Given the description of an element on the screen output the (x, y) to click on. 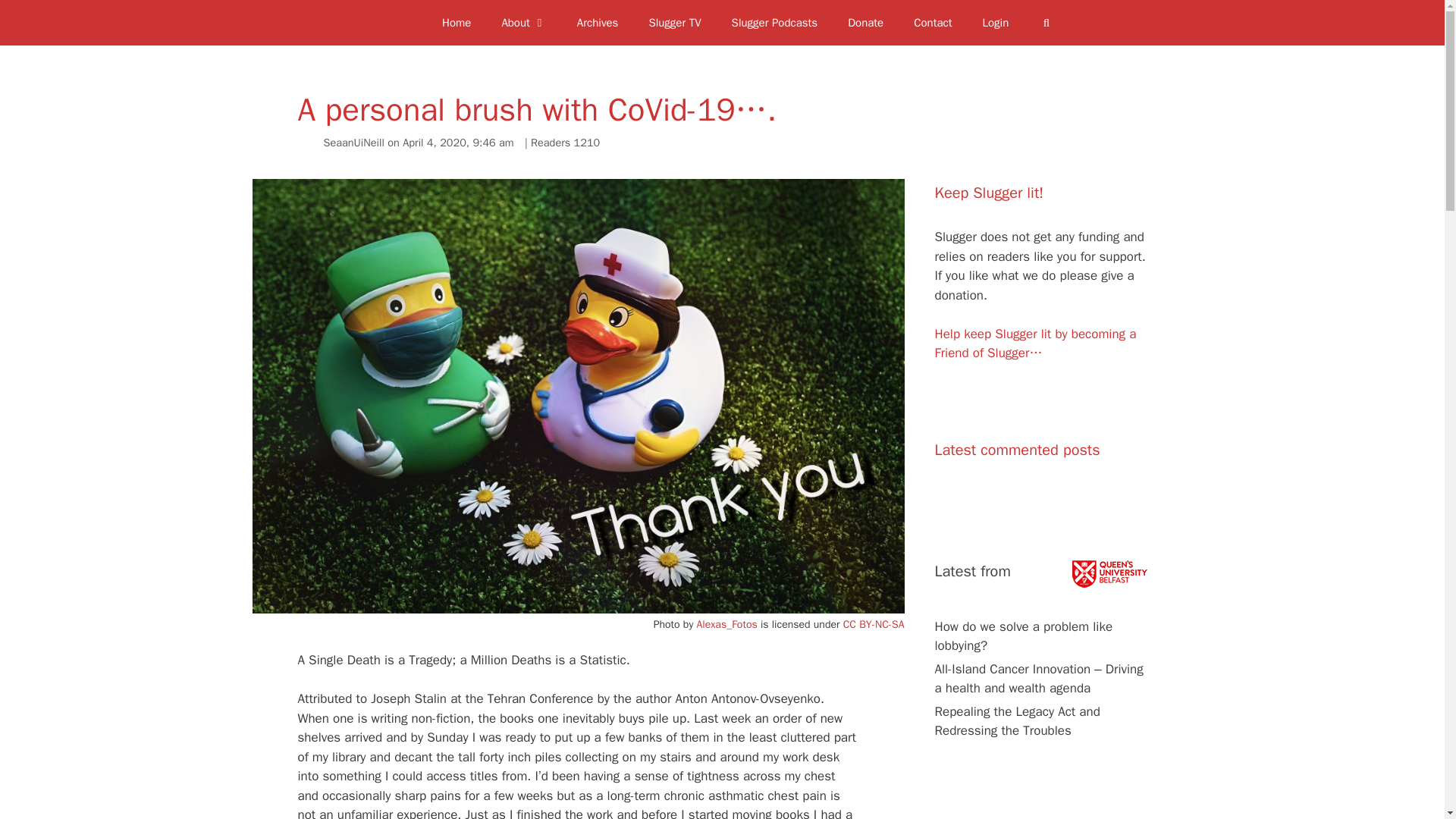
Donate (865, 22)
Slugger TV (674, 22)
Login (996, 22)
Slugger O'Toole (397, 22)
Contact (932, 22)
Slugger Podcasts (774, 22)
View all posts by SeaanUiNeill (353, 142)
About (523, 22)
SeaanUiNeill (353, 142)
Archives (597, 22)
Home (456, 22)
